Given the description of an element on the screen output the (x, y) to click on. 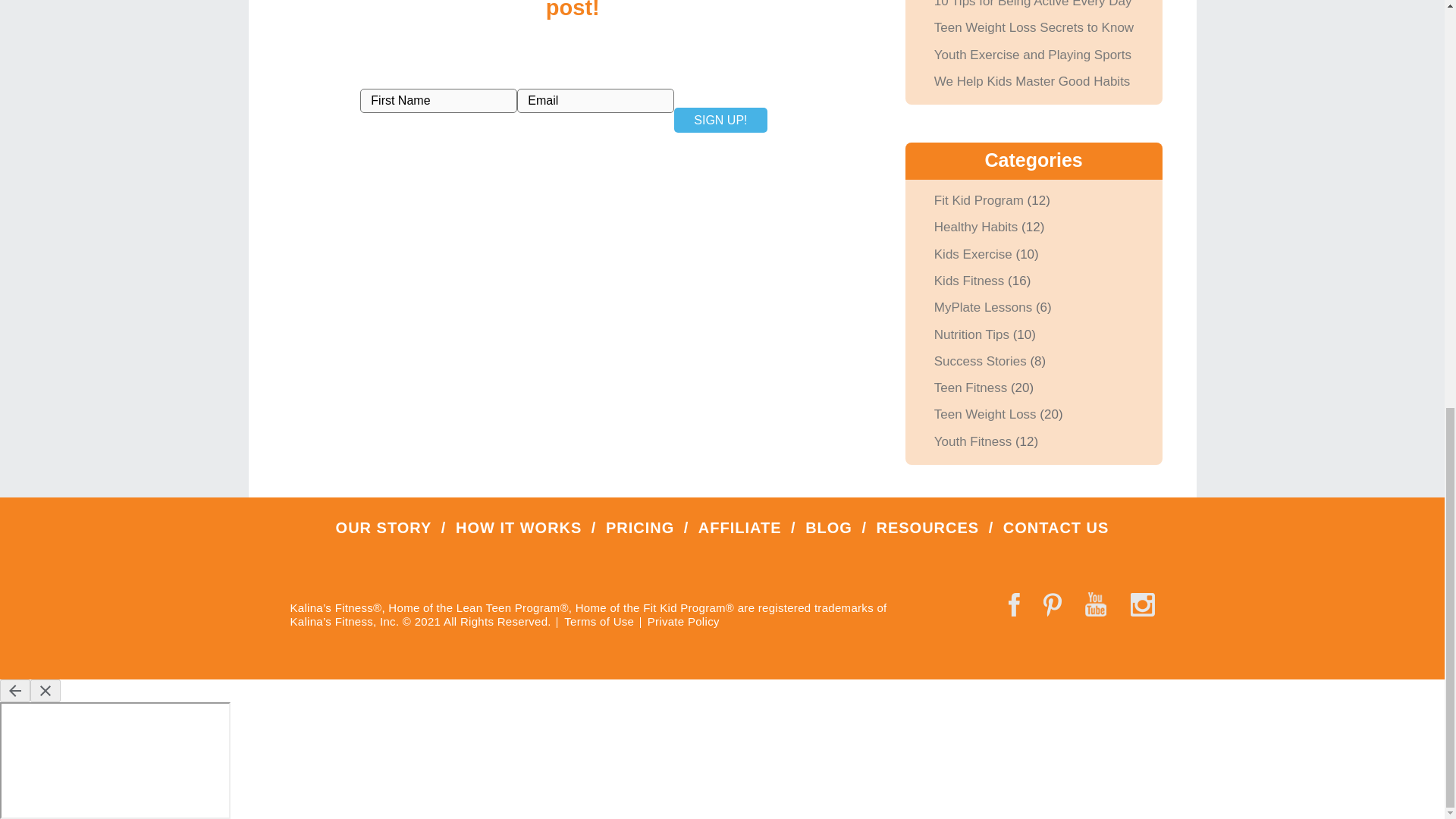
Sign Up! (720, 119)
Healthy Habits (975, 227)
MyPlate Lessons (983, 307)
Teen Weight Loss Secrets to Know (1034, 27)
Kids Exercise (972, 254)
Nutrition Tips (971, 334)
We Help Kids Master Good Habits (1032, 81)
Teen Weight Loss (985, 414)
Fit Kid Program (978, 200)
Success Stories (980, 360)
OUR STORY (384, 527)
HOW IT WORKS (517, 527)
Youth Exercise and Playing Sports (1032, 54)
Kids Fitness (969, 280)
Teen Fitness (970, 387)
